Given the description of an element on the screen output the (x, y) to click on. 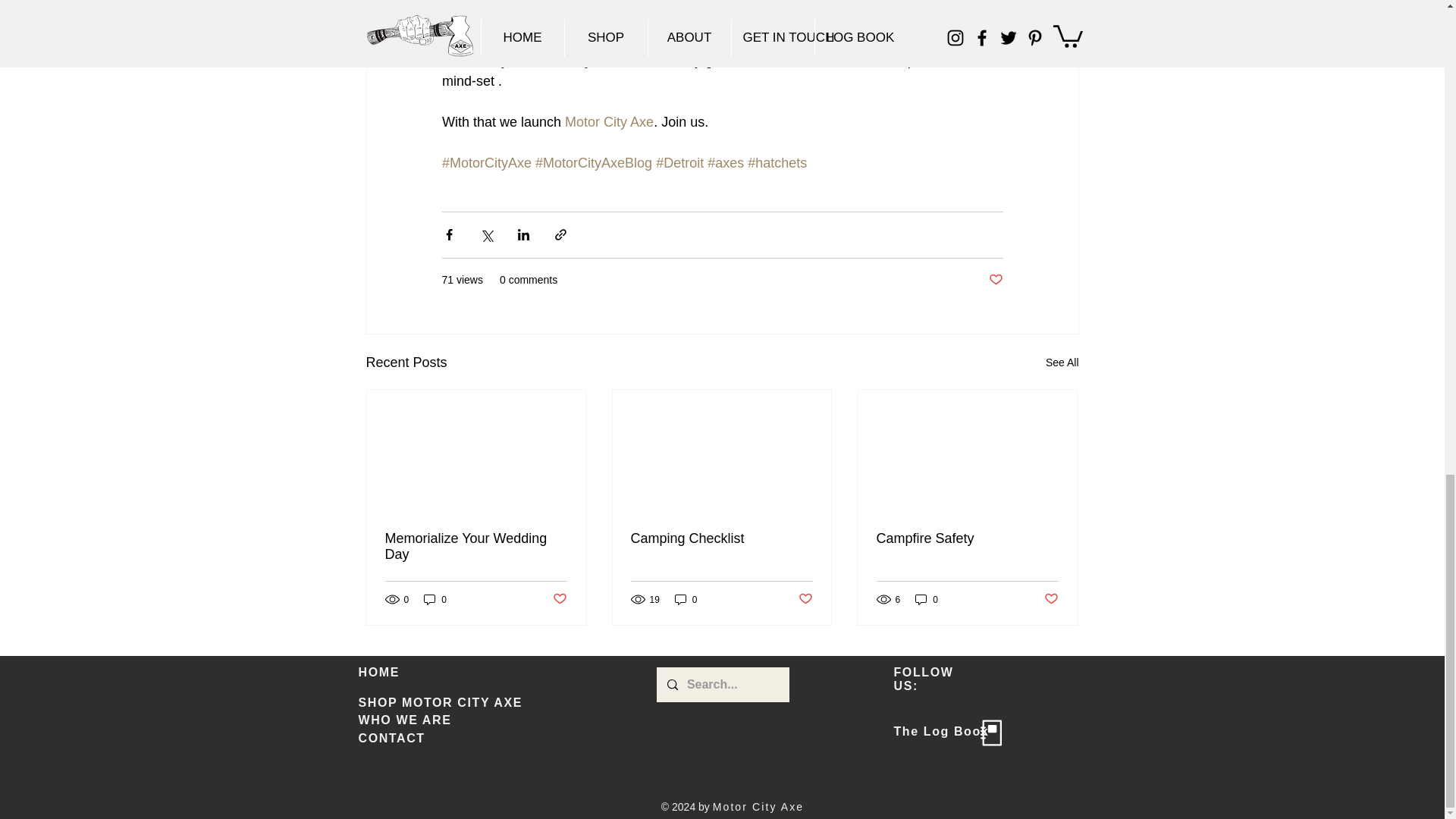
Post not marked as liked (804, 599)
Memorialize Your Wedding Day (476, 546)
0 (685, 599)
Post not marked as liked (558, 599)
0 (435, 599)
Camping Checklist (721, 538)
Motor City Axe (608, 121)
See All (1061, 362)
Post not marked as liked (995, 279)
